Given the description of an element on the screen output the (x, y) to click on. 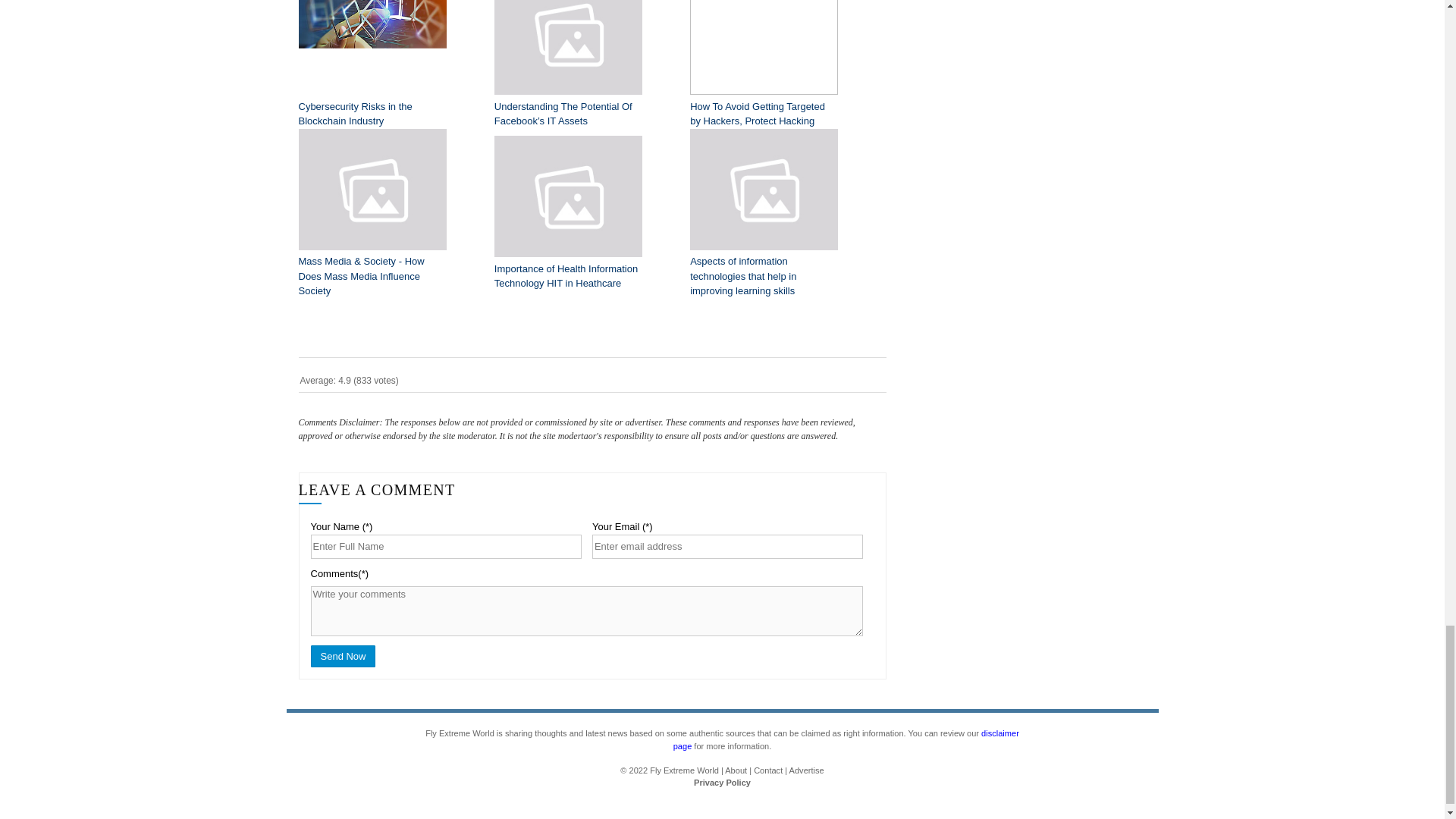
Send Now (343, 656)
